Given the description of an element on the screen output the (x, y) to click on. 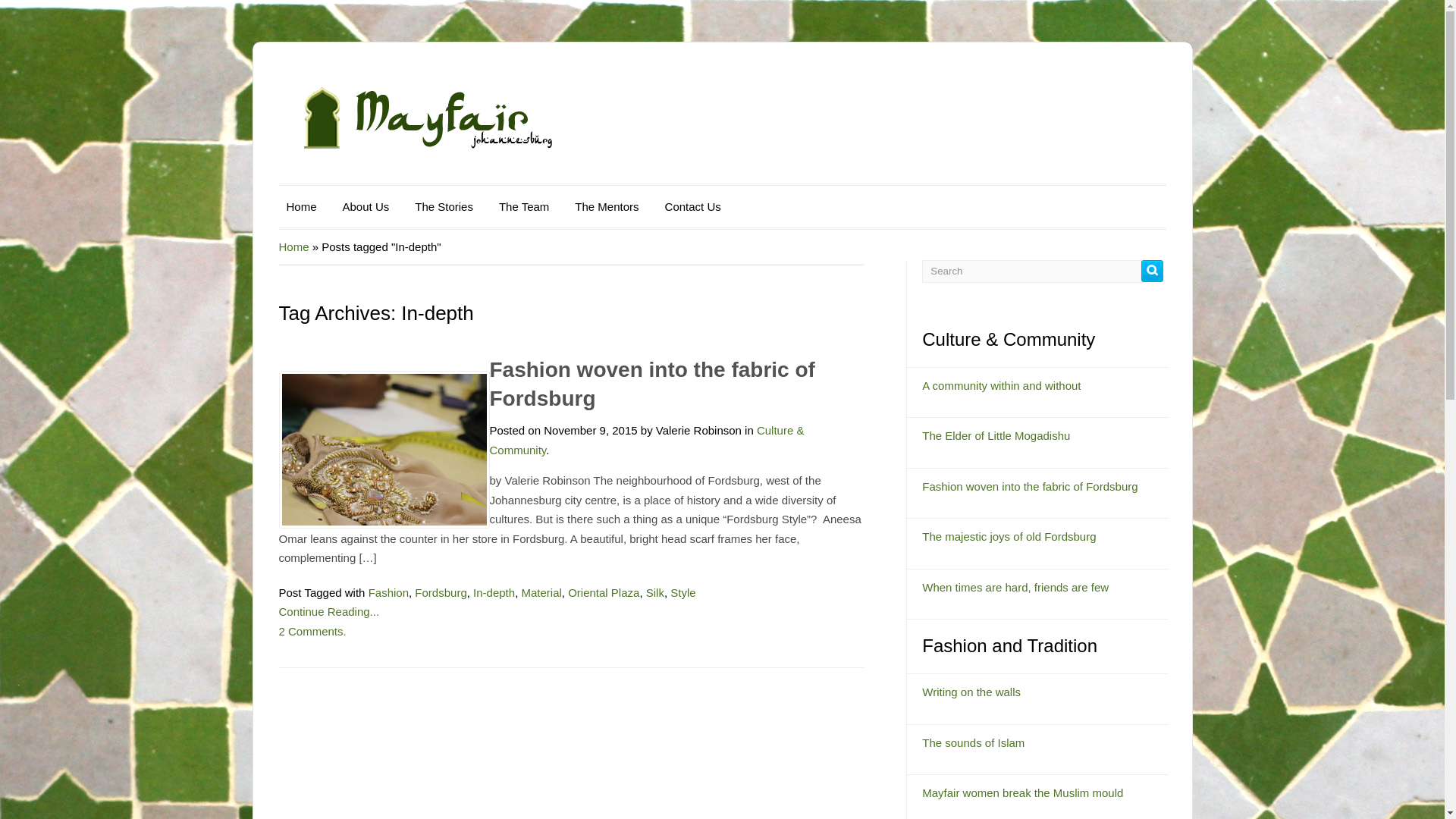
Style (682, 602)
Home (293, 245)
In-depth (494, 604)
When times are hard, friends are few (1014, 586)
Home (301, 206)
The Team (524, 206)
2 Comments. (312, 638)
Silk (654, 603)
Material (540, 604)
Continue Reading... (329, 620)
Permanent Link to Fashion woven into the fabric of Fordsburg (652, 383)
Fordsburg (439, 605)
Search (1152, 270)
A community within and without (1000, 385)
Search (1031, 270)
